Given the description of an element on the screen output the (x, y) to click on. 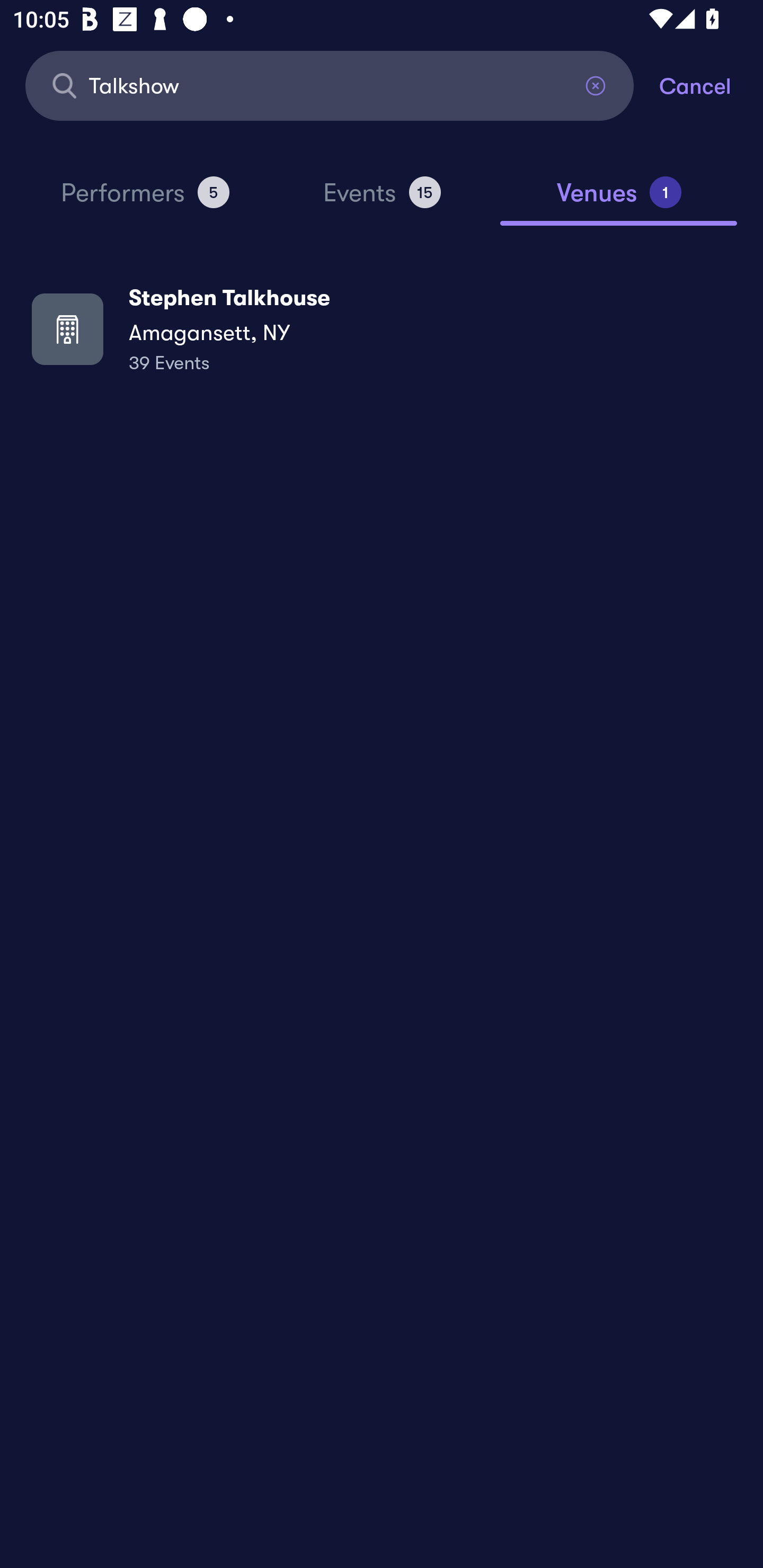
Talkshow Find (329, 85)
Talkshow Find (329, 85)
Cancel (711, 85)
Performers 5 (144, 200)
Events 15 (381, 200)
Venues 1 (618, 200)
Stephen Talkhouse Amagansett, NY 39 Events (381, 328)
